Given the description of an element on the screen output the (x, y) to click on. 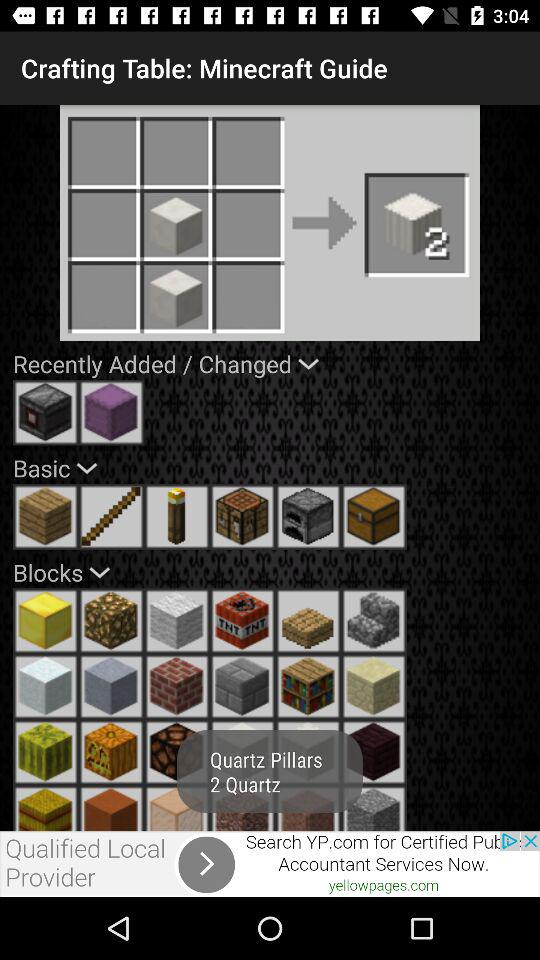
select the block (45, 621)
